Given the description of an element on the screen output the (x, y) to click on. 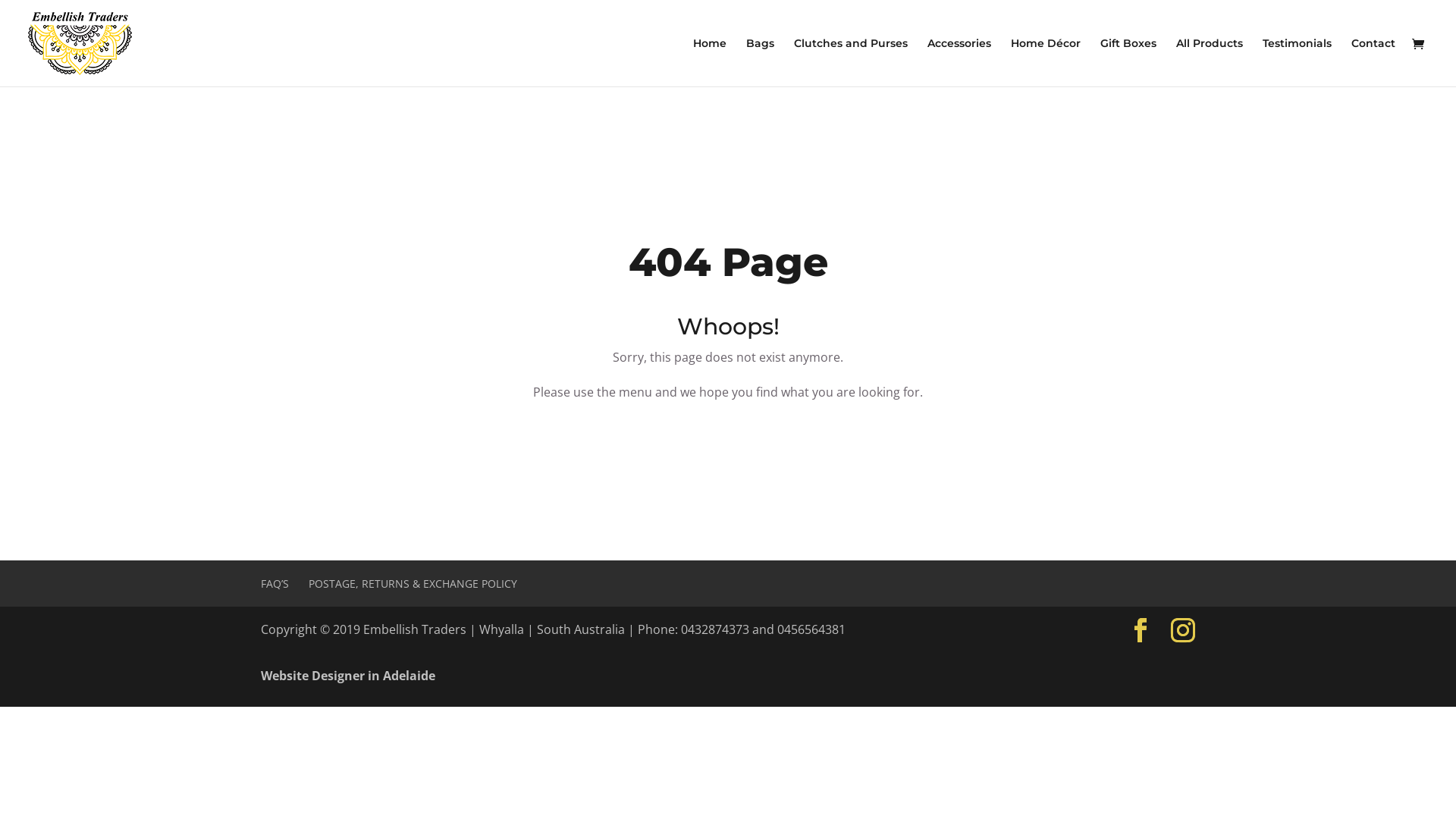
Contact Element type: text (1373, 61)
Clutches and Purses Element type: text (850, 61)
Home Element type: text (709, 61)
Accessories Element type: text (959, 61)
All Products Element type: text (1209, 61)
Testimonials Element type: text (1296, 61)
Bags Element type: text (760, 61)
POSTAGE, RETURNS & EXCHANGE POLICY Element type: text (412, 583)
Gift Boxes Element type: text (1128, 61)
Website Designer in Adelaide Element type: text (347, 675)
